Given the description of an element on the screen output the (x, y) to click on. 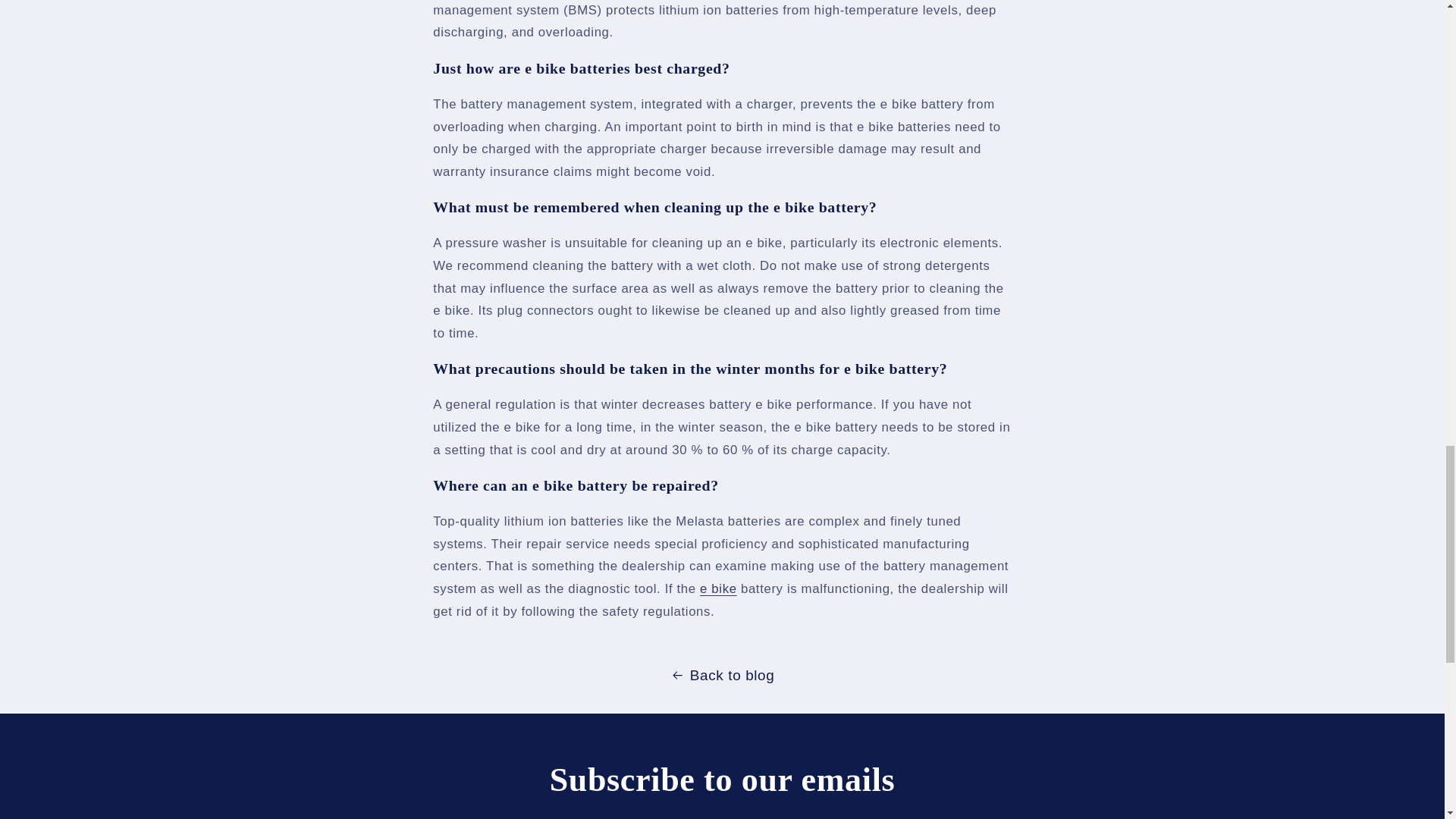
e bike battery  (718, 588)
